Given the description of an element on the screen output the (x, y) to click on. 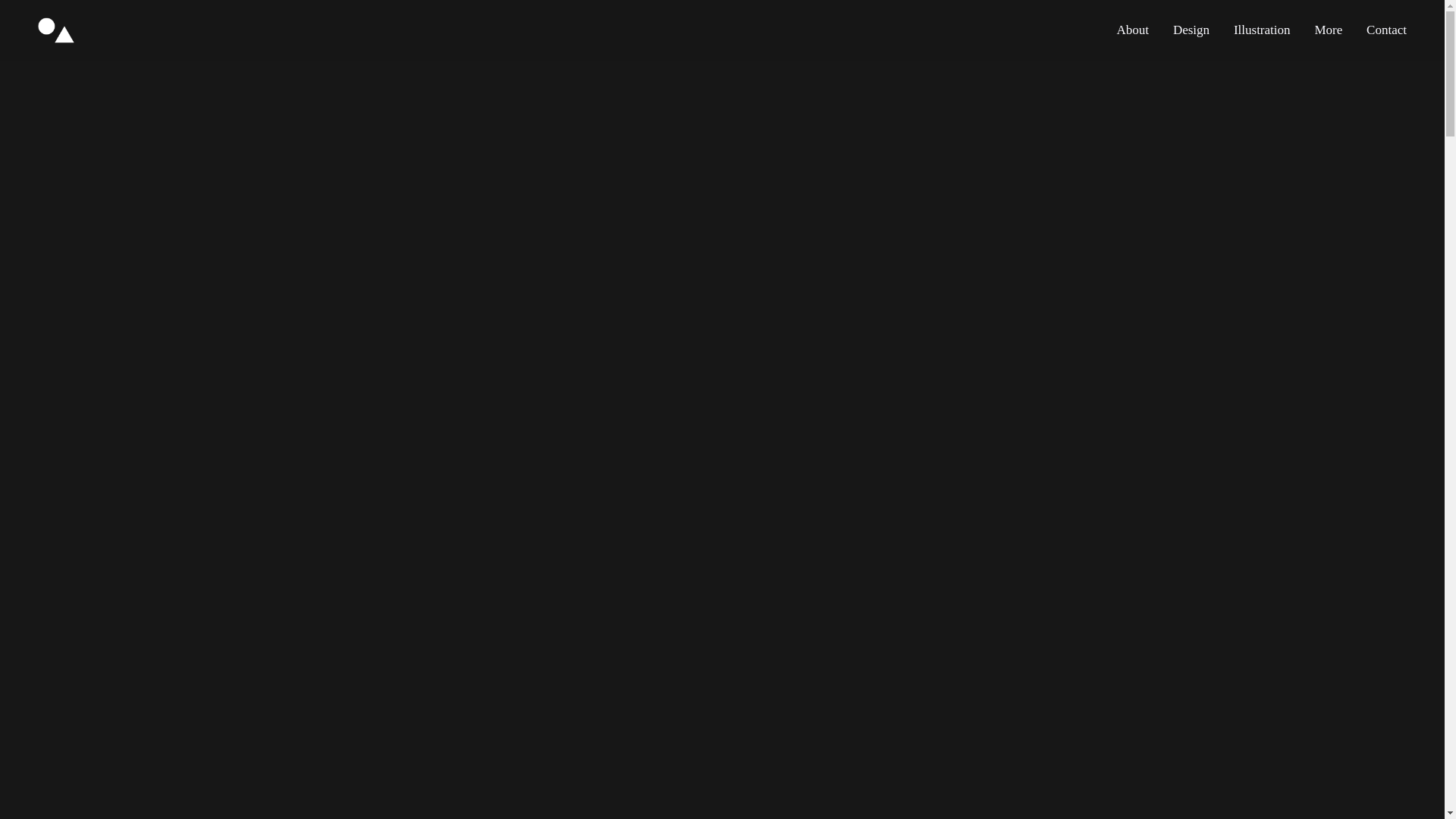
Illustration (1261, 30)
Design (1190, 30)
About (1132, 30)
Contact (1380, 30)
More (1327, 30)
